Given the description of an element on the screen output the (x, y) to click on. 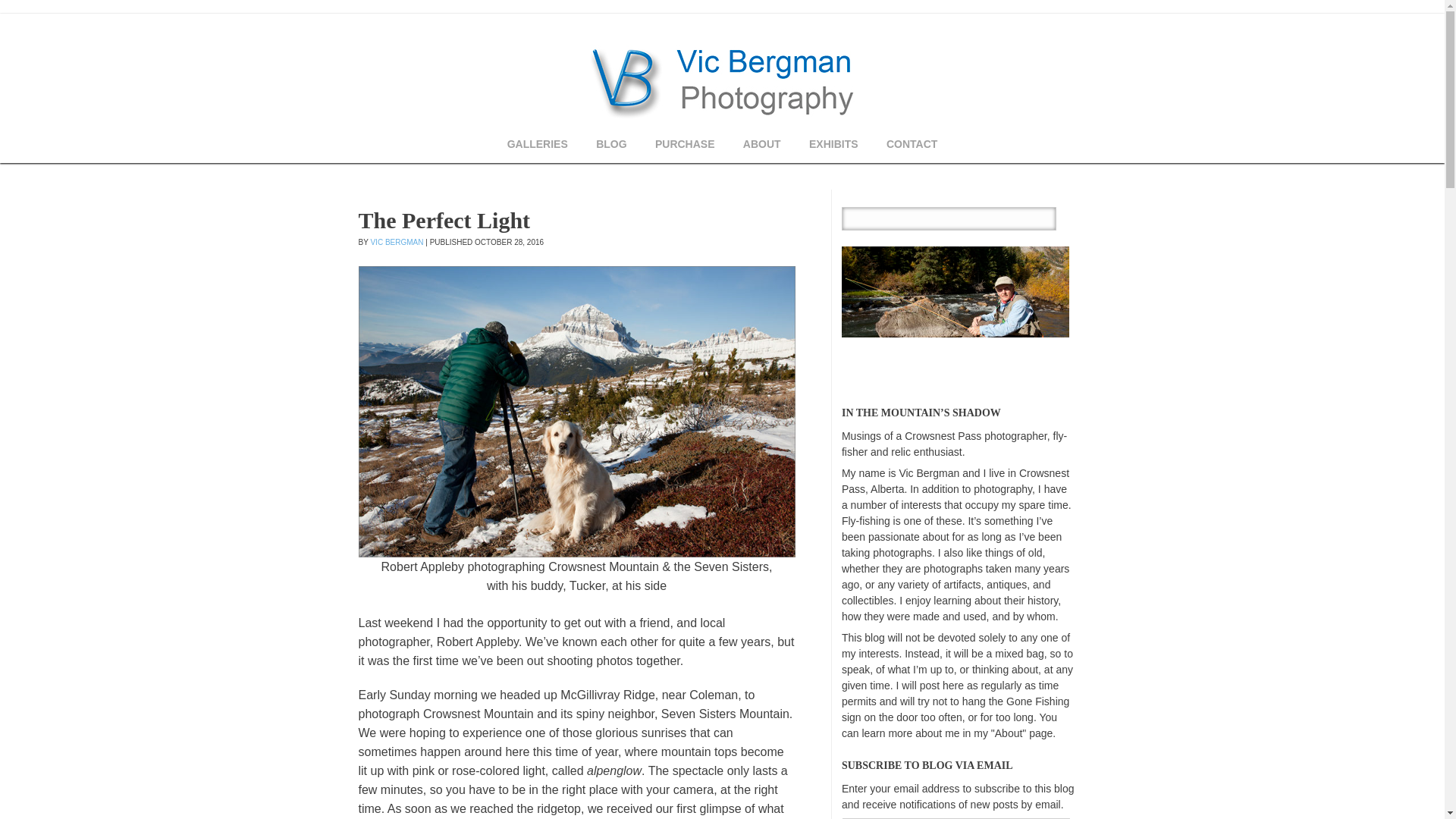
Search (1043, 218)
PURCHASE (685, 143)
Search (1043, 218)
CONTACT (911, 143)
View all posts by Vic Bergman (396, 242)
ABOUT (761, 143)
EXHIBITS (833, 143)
VIC BERGMAN (396, 242)
BLOG (611, 143)
GALLERIES (537, 143)
